Given the description of an element on the screen output the (x, y) to click on. 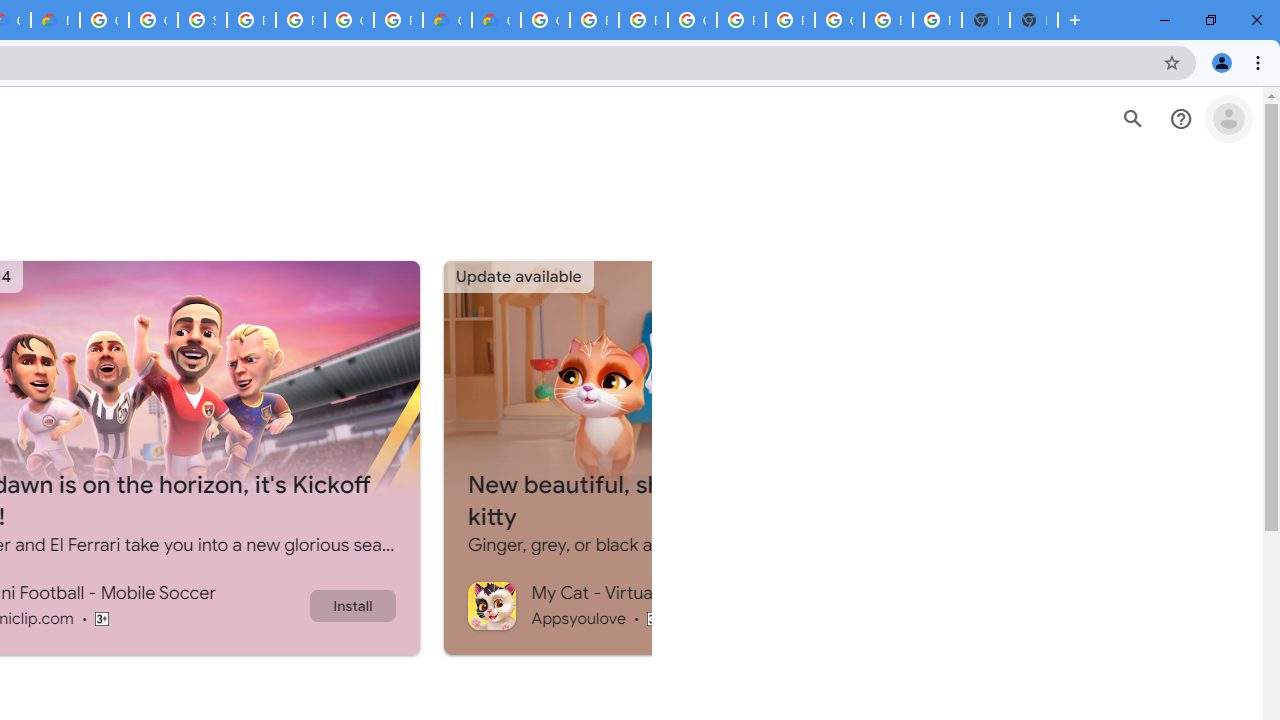
Customer Care | Google Cloud (447, 20)
Google Cloud Platform (839, 20)
Sign in - Google Accounts (201, 20)
Google Cloud Platform (349, 20)
Content rating Rated for 3+ (653, 618)
Browse Chrome as a guest - Computer - Google Chrome Help (643, 20)
Google Cloud Estimate Summary (496, 20)
